Given the description of an element on the screen output the (x, y) to click on. 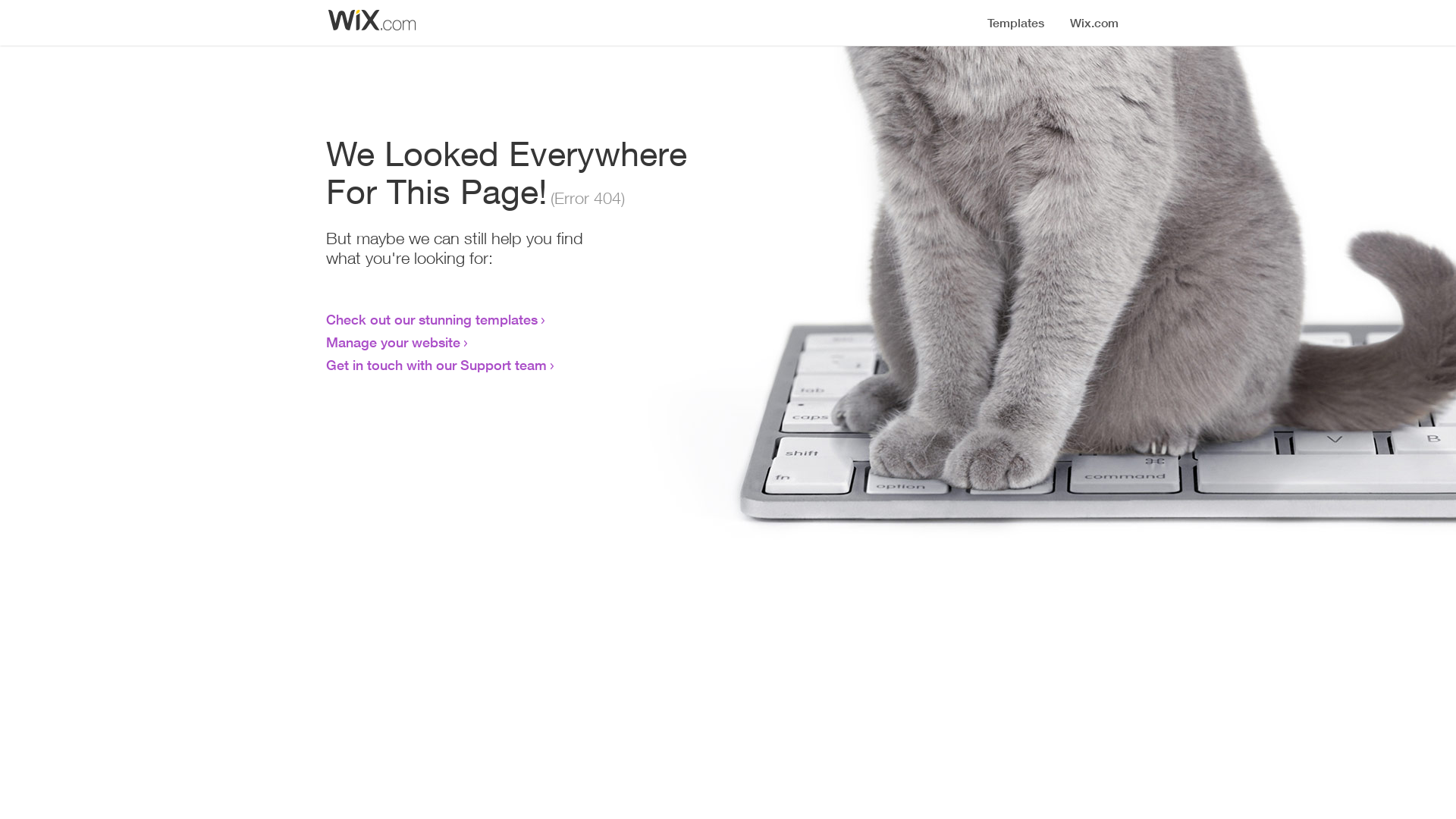
Manage your website Element type: text (393, 341)
Get in touch with our Support team Element type: text (436, 364)
Check out our stunning templates Element type: text (431, 318)
